Given the description of an element on the screen output the (x, y) to click on. 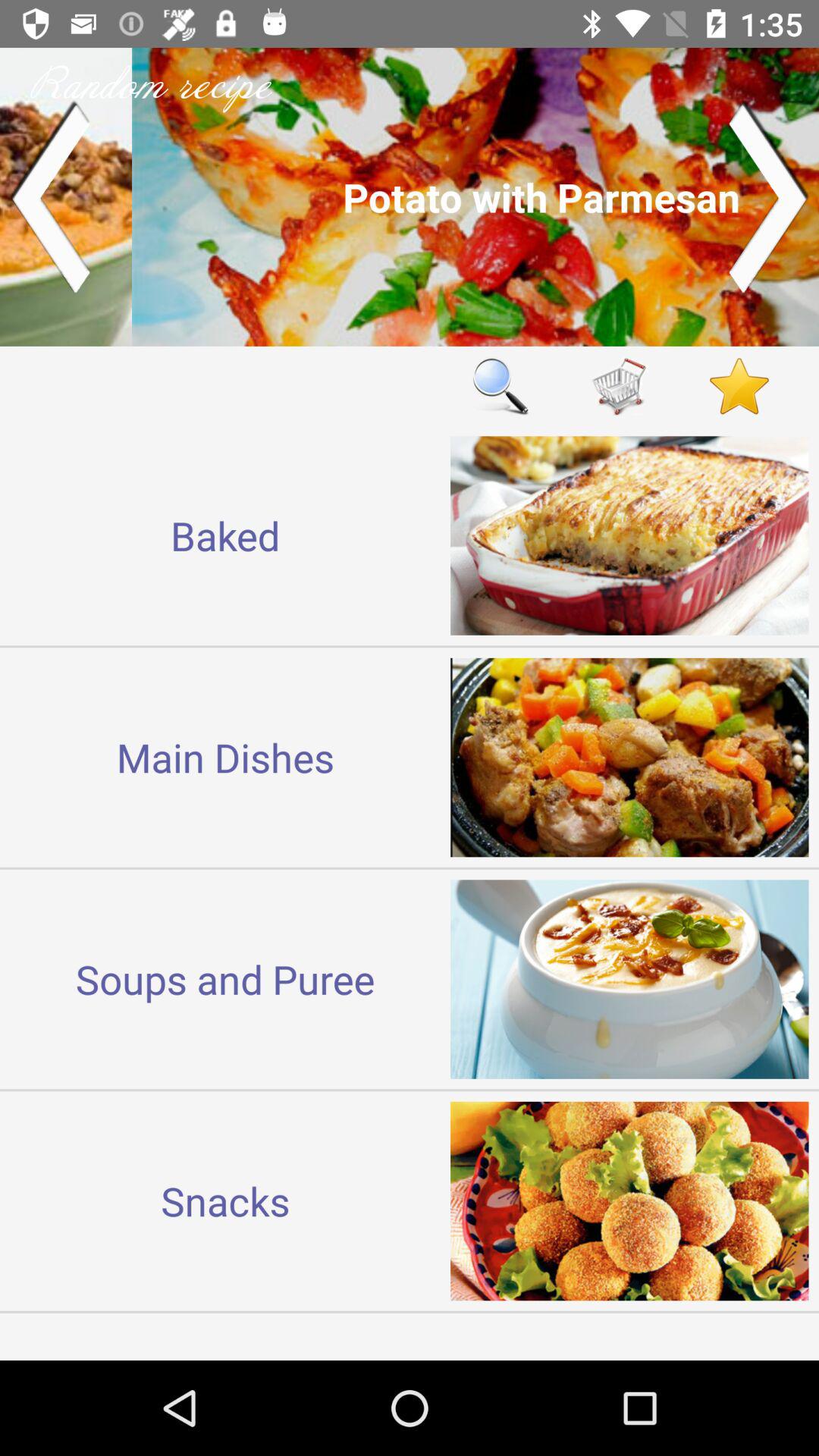
go to another recipe (409, 196)
